Given the description of an element on the screen output the (x, y) to click on. 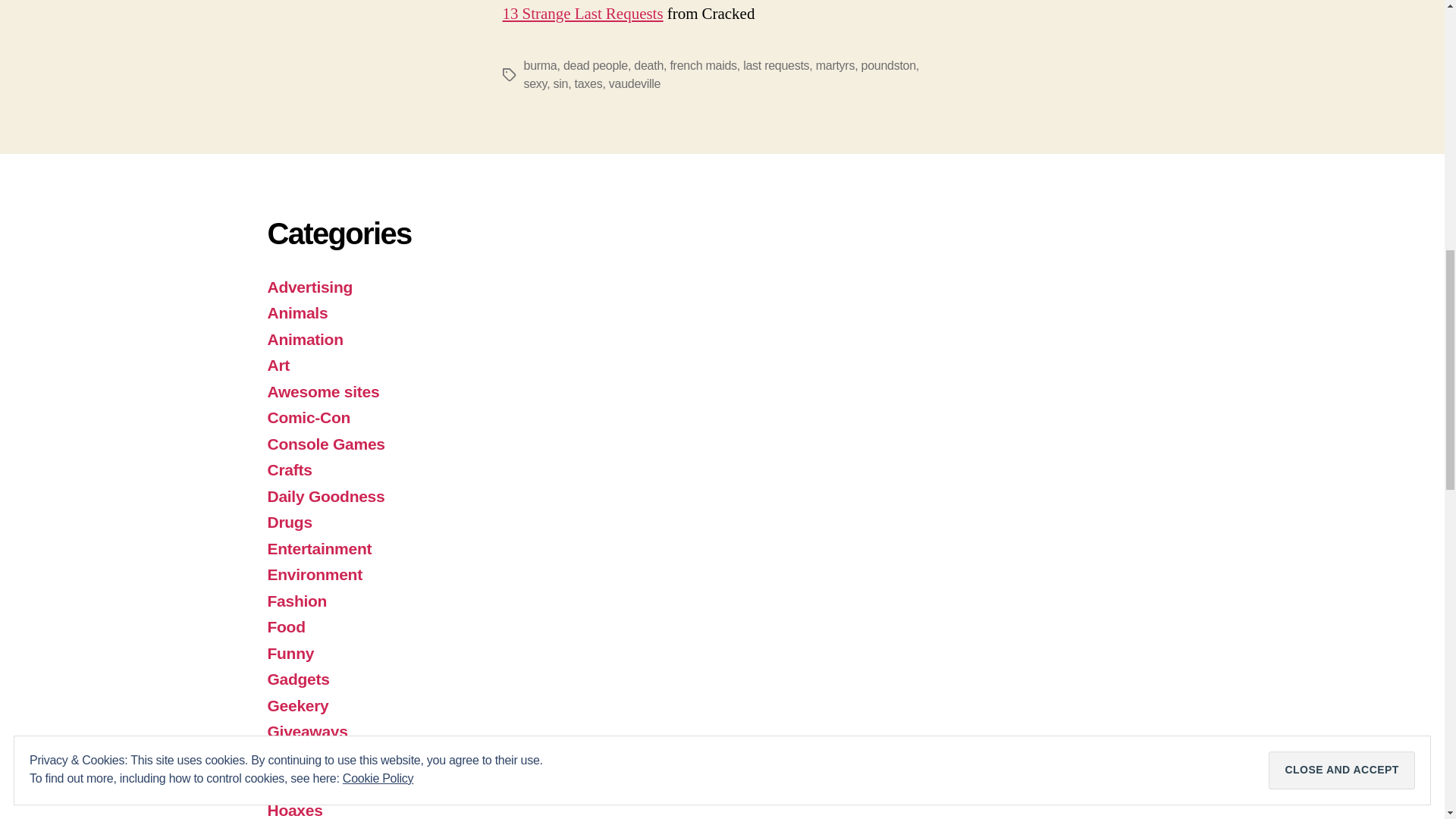
death (648, 65)
Animals (296, 312)
french maids (702, 65)
Console Games (325, 443)
13 Strange Last Requests (582, 14)
sexy (534, 83)
poundston (888, 65)
taxes (588, 83)
Animation (304, 339)
Comic-Con (308, 416)
